Given the description of an element on the screen output the (x, y) to click on. 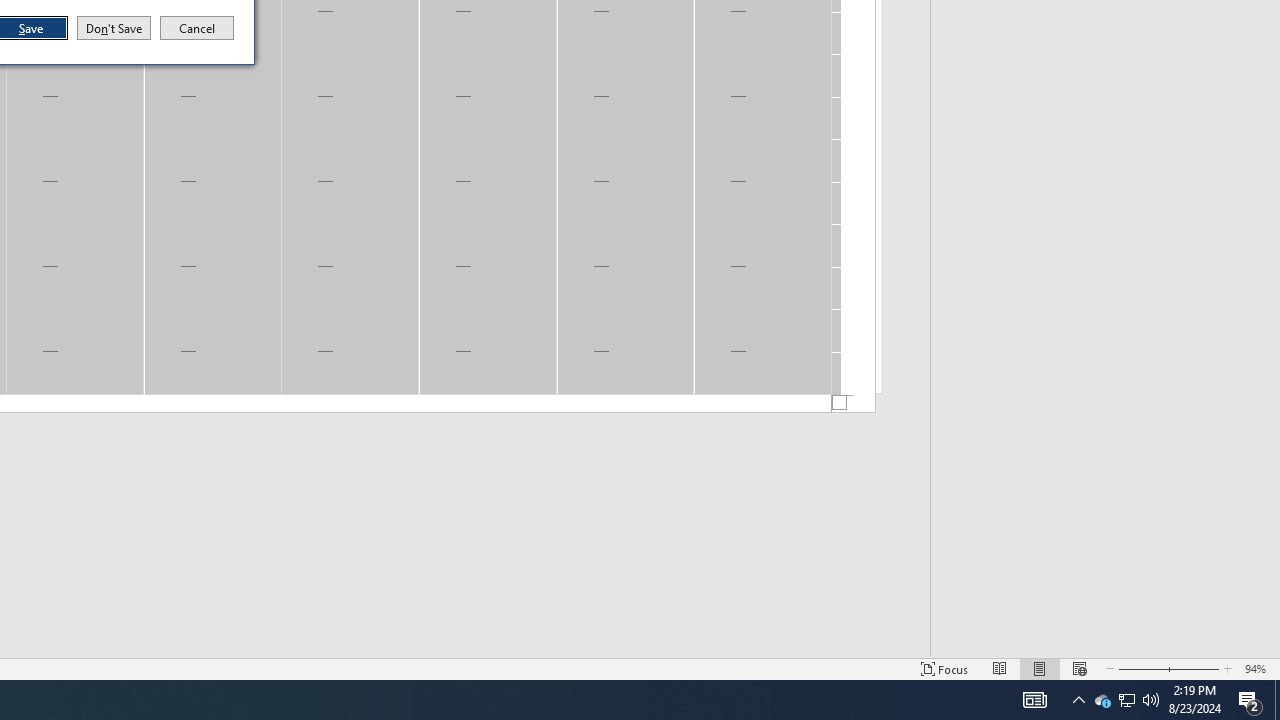
Don't Save (113, 27)
